Given the description of an element on the screen output the (x, y) to click on. 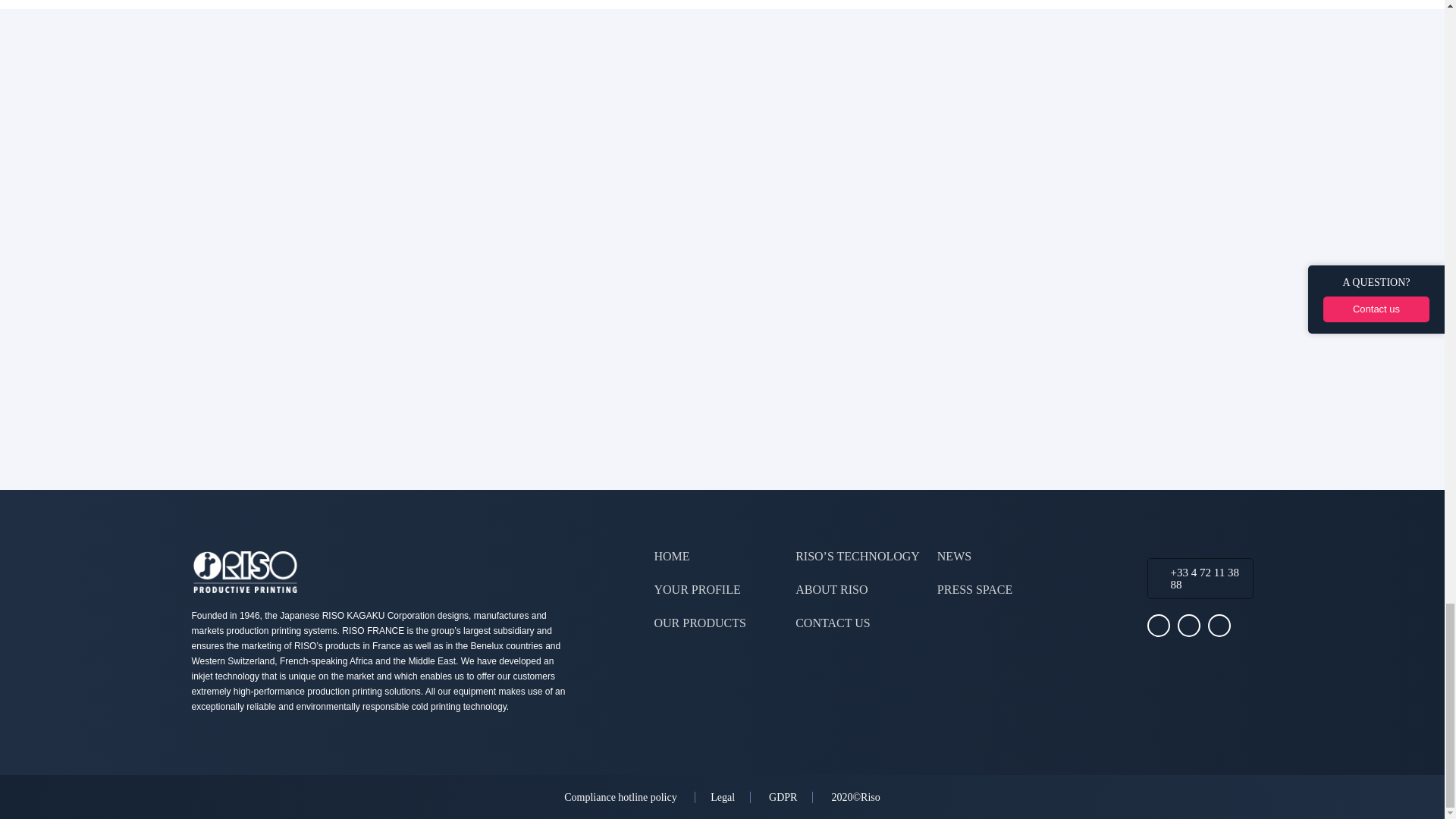
linkedin (1218, 625)
Phone RISO (1204, 578)
twitter (1158, 625)
youtube (1187, 625)
